Given the description of an element on the screen output the (x, y) to click on. 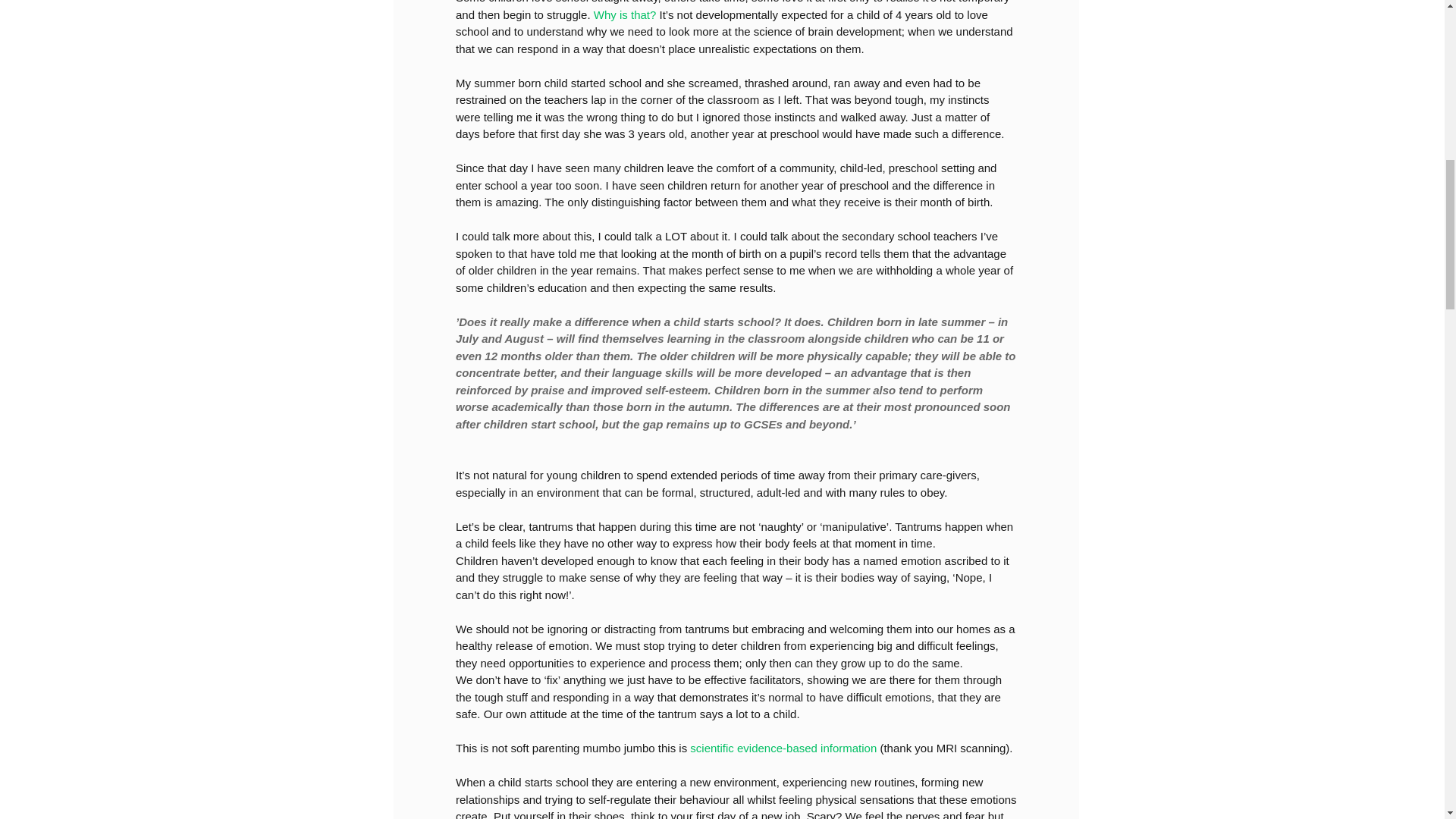
It does (802, 321)
Why is that? (624, 13)
scientific evidence-based information (783, 748)
